Given the description of an element on the screen output the (x, y) to click on. 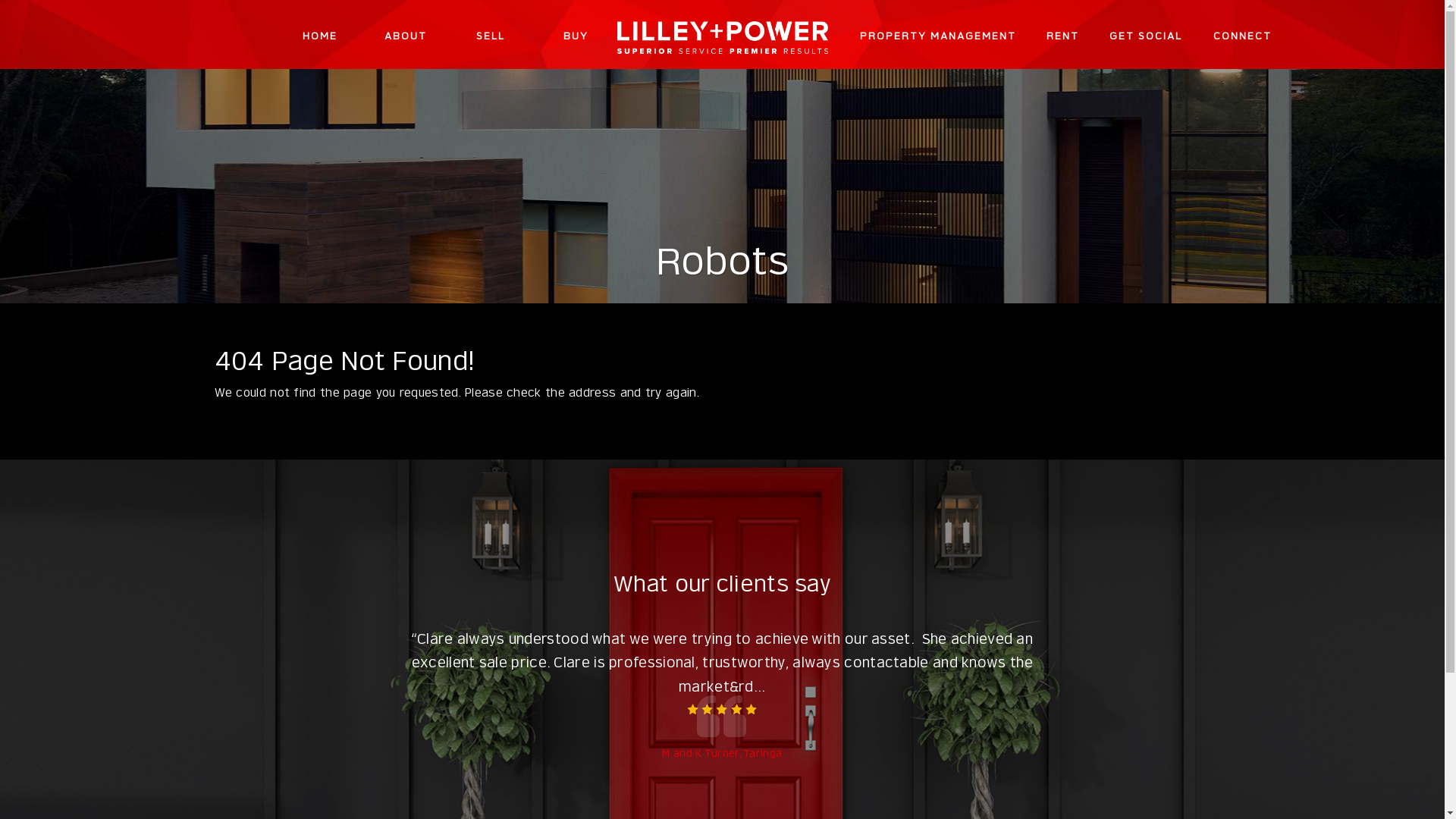
Lilley and Power Property Agents Pty Ltd Element type: hover (722, 34)
SELL Element type: text (490, 36)
CONNECT Element type: text (1242, 36)
BUY Element type: text (575, 36)
ABOUT Element type: text (405, 36)
M and K Turner, Taringa Element type: text (721, 753)
GET SOCIAL Element type: text (1145, 36)
RENT Element type: text (1062, 36)
HOME Element type: text (319, 36)
PROPERTY MANAGEMENT Element type: text (937, 36)
